Given the description of an element on the screen output the (x, y) to click on. 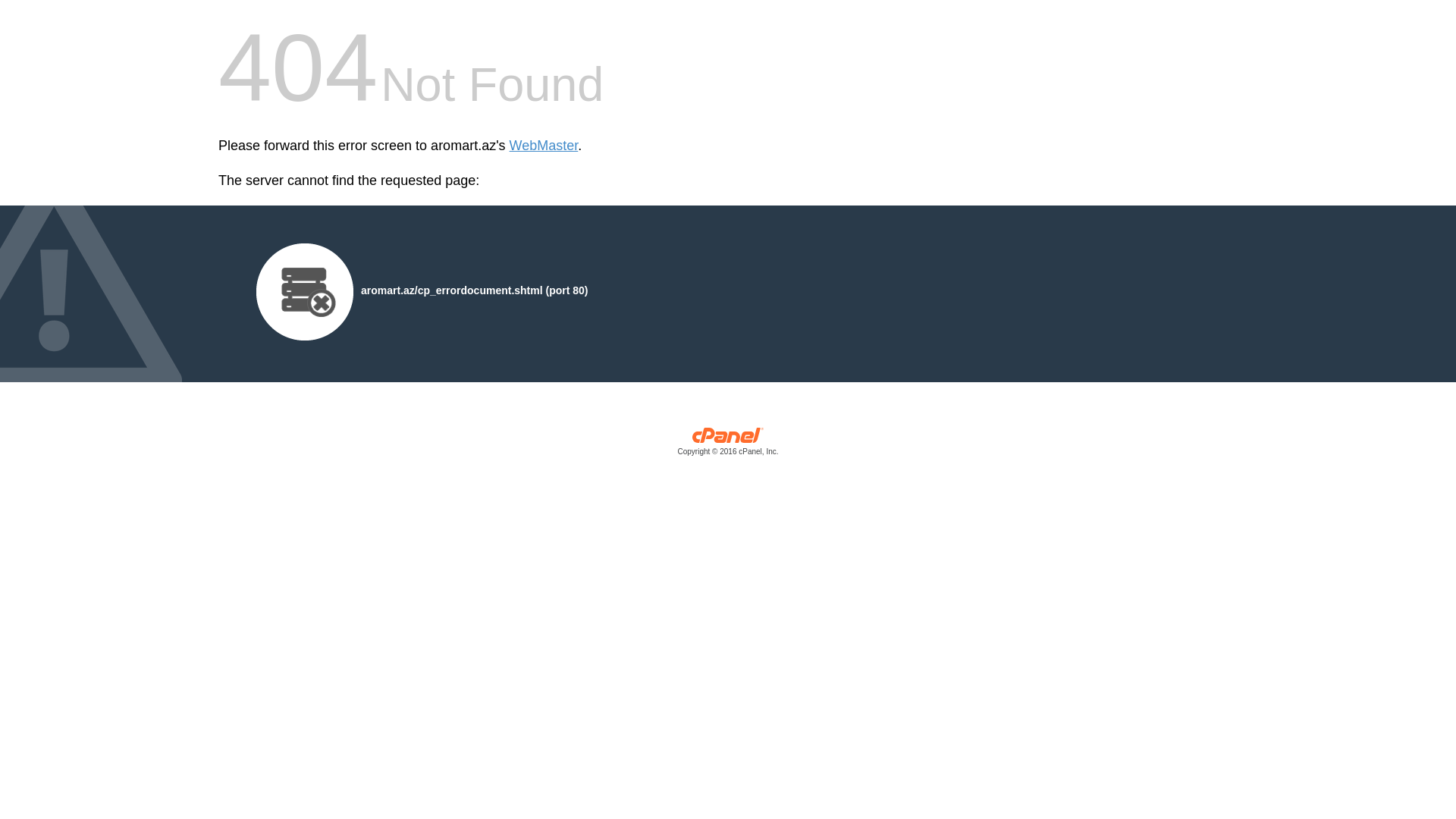
WebMaster Element type: text (543, 145)
